Given the description of an element on the screen output the (x, y) to click on. 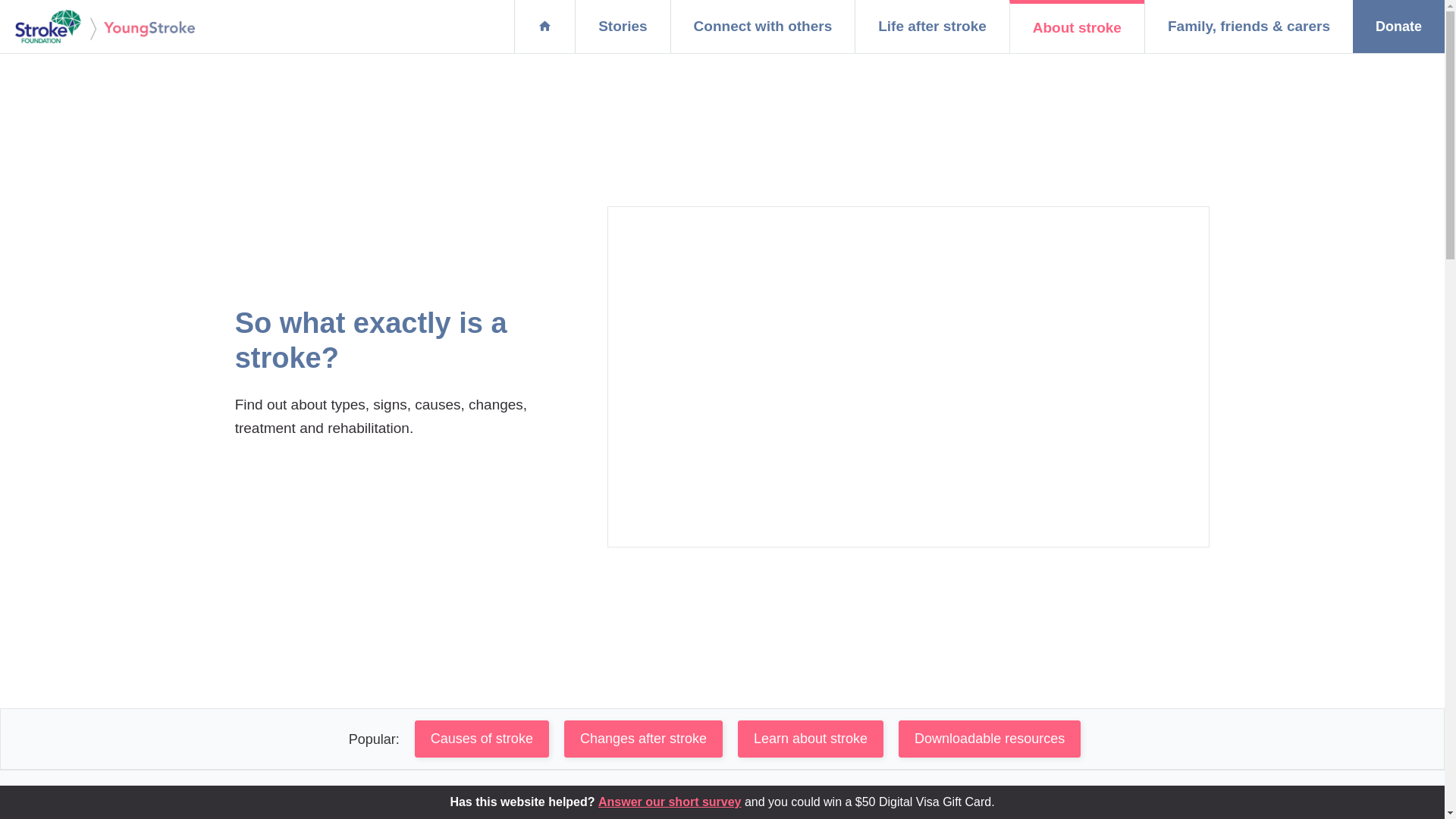
home Element type: text (544, 26)
Learn about stroke Element type: text (810, 738)
Changes after stroke Element type: text (643, 738)
Family, friends & carers Element type: text (1248, 26)
Life after stroke Element type: text (931, 26)
Donate Element type: text (1398, 26)
Causes of stroke Element type: text (481, 738)
Answer our short survey Element type: text (669, 801)
About stroke Element type: text (1076, 26)
Stories Element type: text (621, 26)
Downloadable resources Element type: text (989, 738)
Connect with others Element type: text (762, 26)
